Given the description of an element on the screen output the (x, y) to click on. 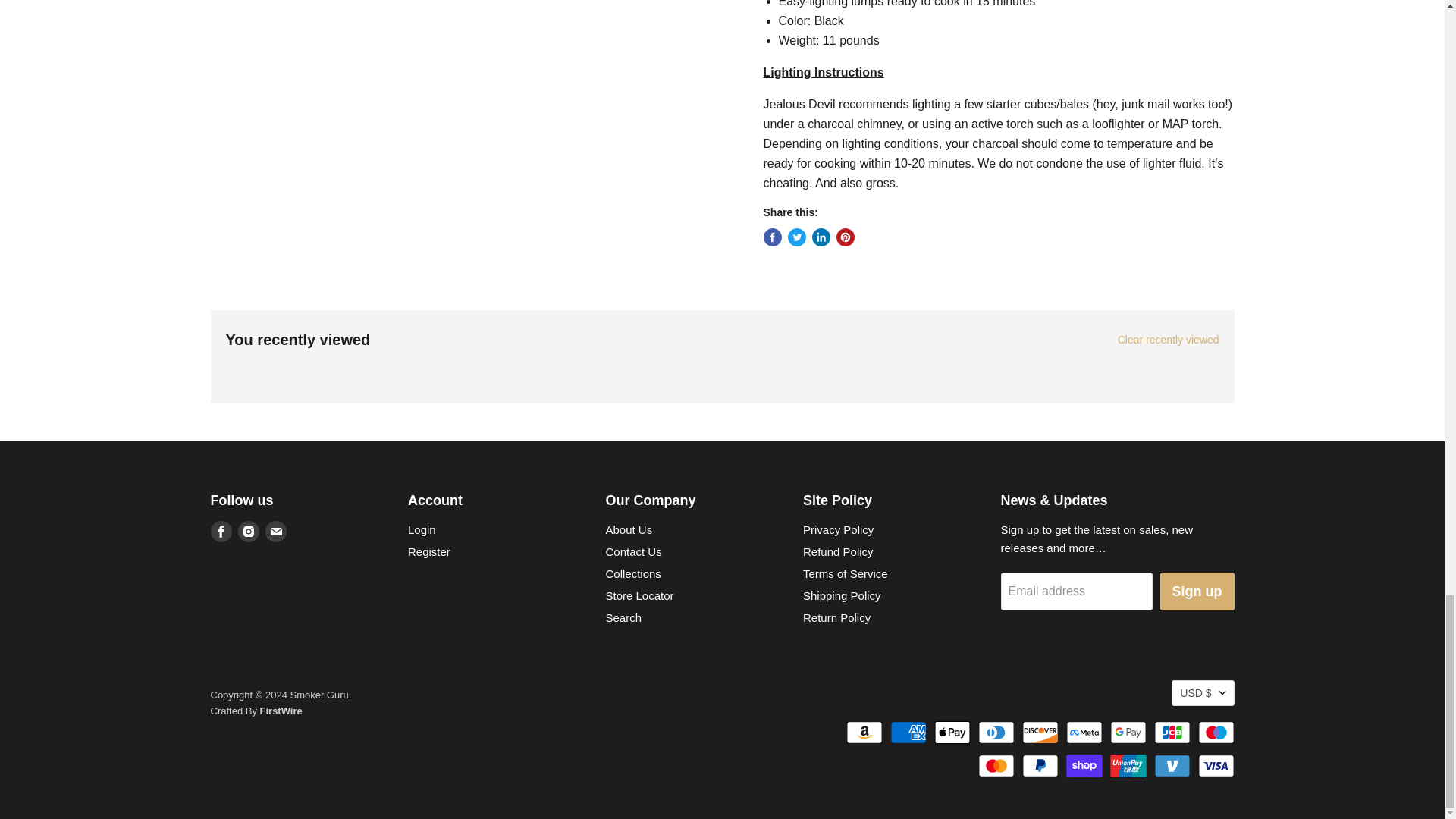
Instagram (248, 531)
Facebook (221, 531)
Email (275, 531)
